Given the description of an element on the screen output the (x, y) to click on. 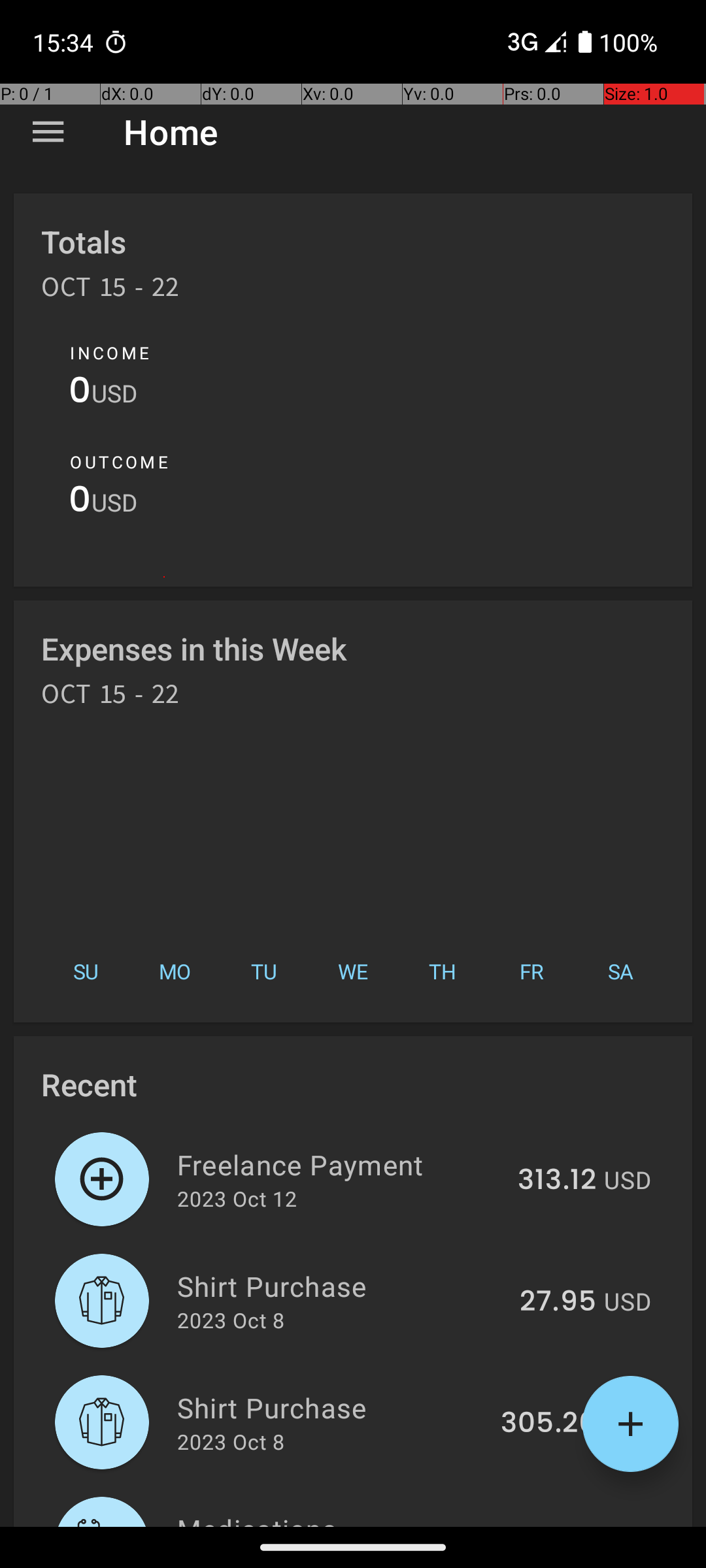
Freelance Payment Element type: android.widget.TextView (339, 1164)
2023 Oct 12 Element type: android.widget.TextView (236, 1198)
313.12 Element type: android.widget.TextView (556, 1180)
Shirt Purchase Element type: android.widget.TextView (340, 1285)
2023 Oct 8 Element type: android.widget.TextView (230, 1320)
27.95 Element type: android.widget.TextView (557, 1301)
305.26 Element type: android.widget.TextView (548, 1423)
Medications Element type: android.widget.TextView (336, 1518)
221.47 Element type: android.widget.TextView (553, 1524)
